Given the description of an element on the screen output the (x, y) to click on. 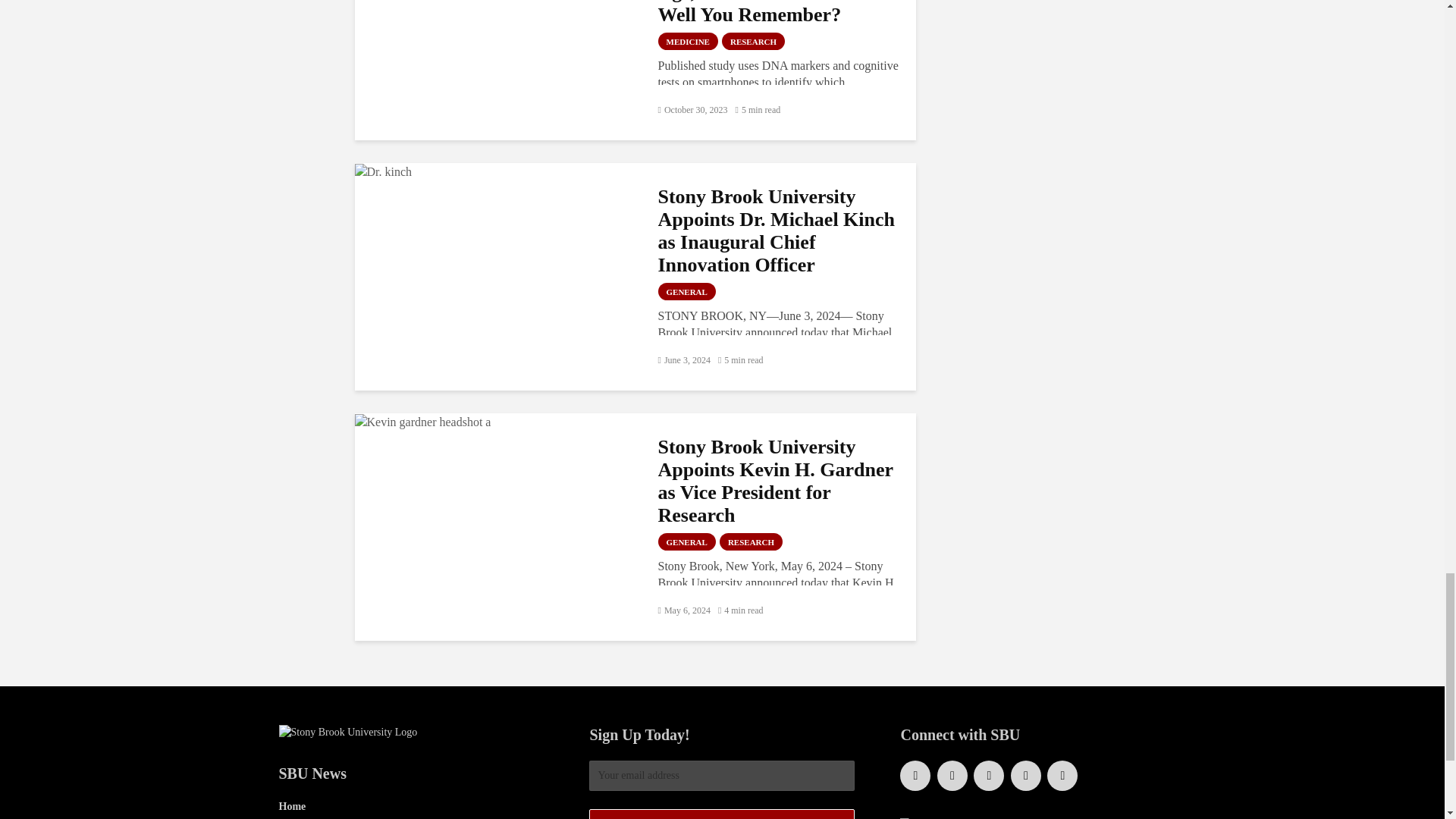
Subscribe (721, 814)
